Given the description of an element on the screen output the (x, y) to click on. 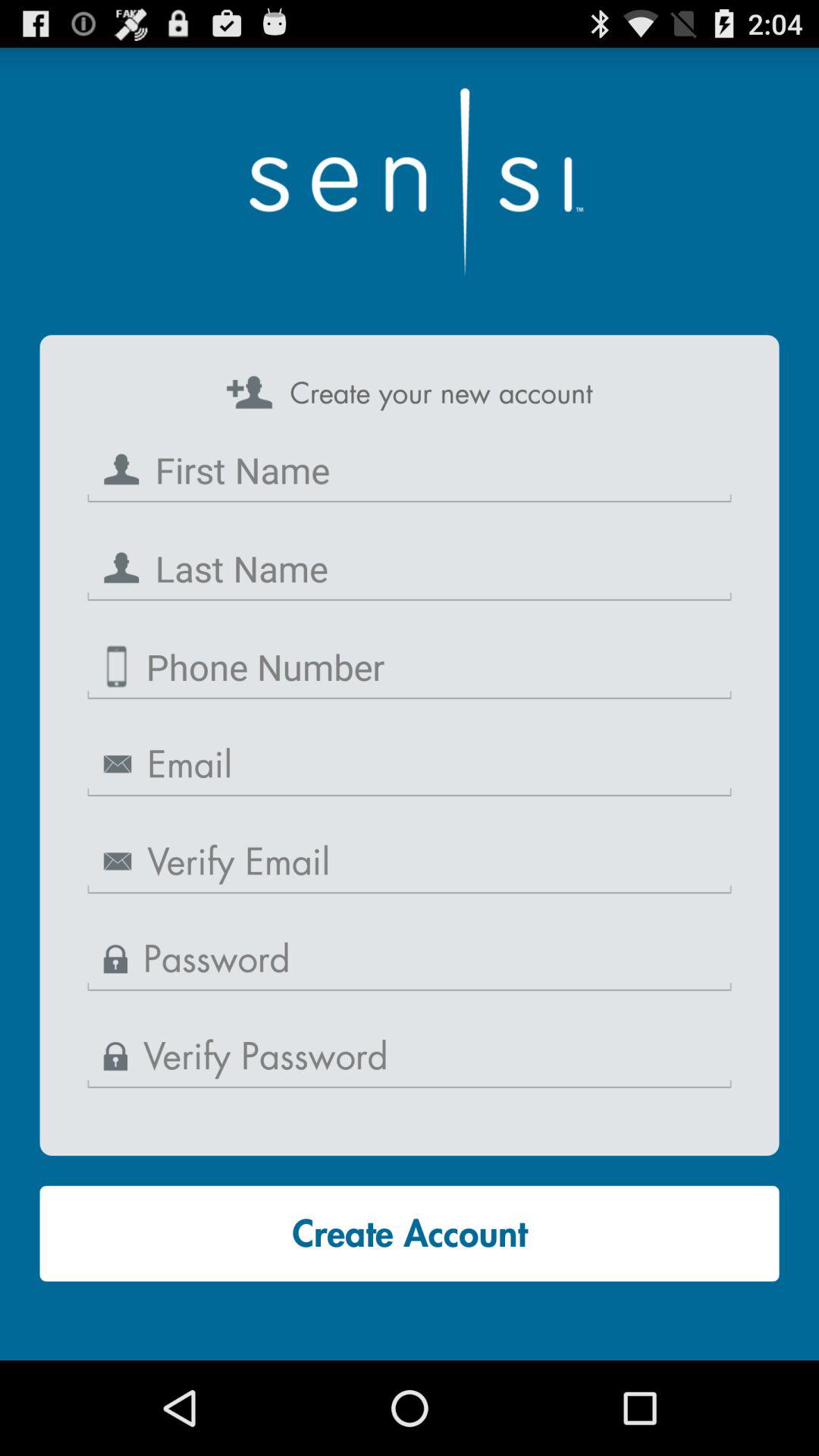
write phone number (409, 667)
